Given the description of an element on the screen output the (x, y) to click on. 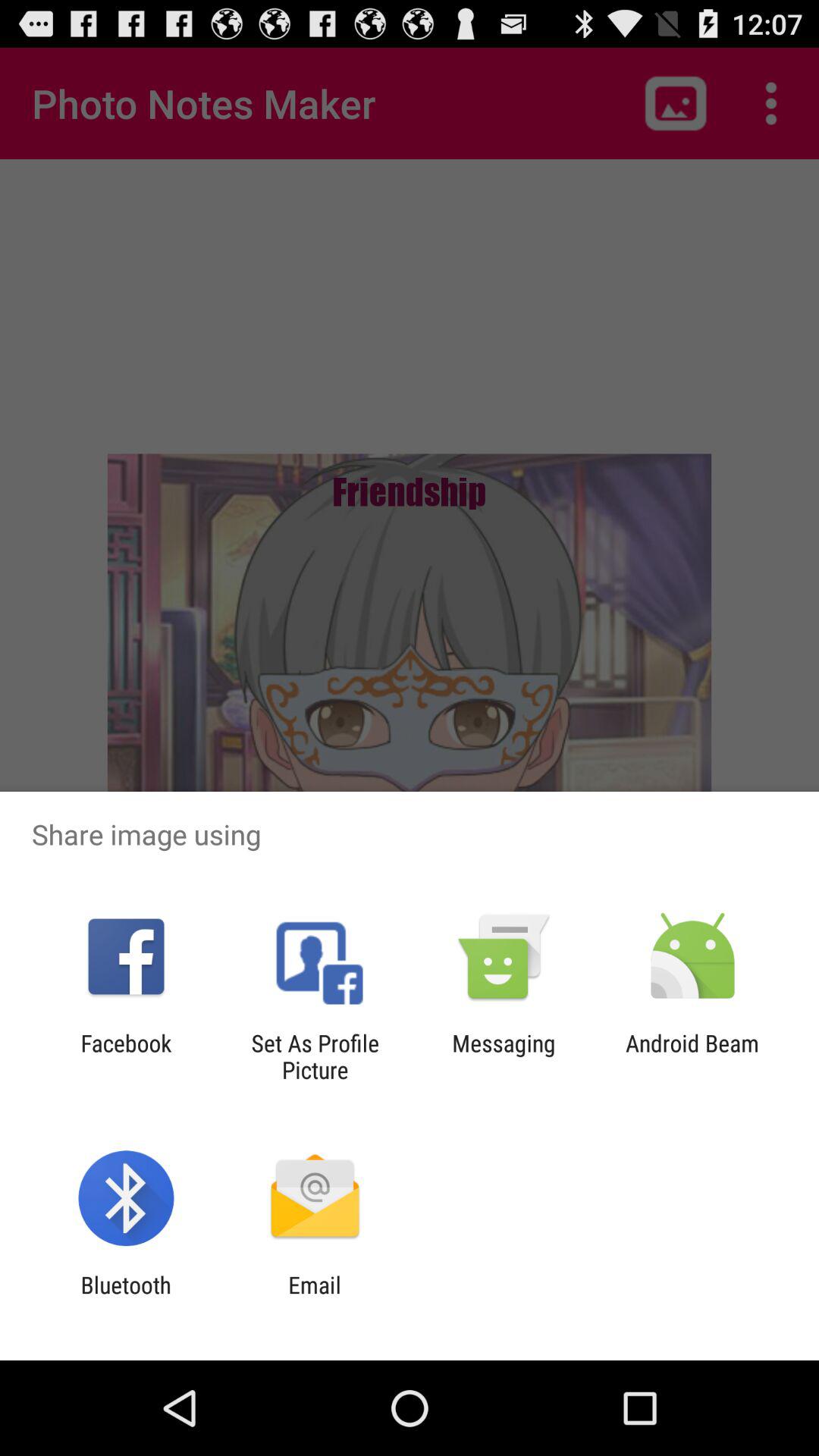
open the item next to the messaging (314, 1056)
